Given the description of an element on the screen output the (x, y) to click on. 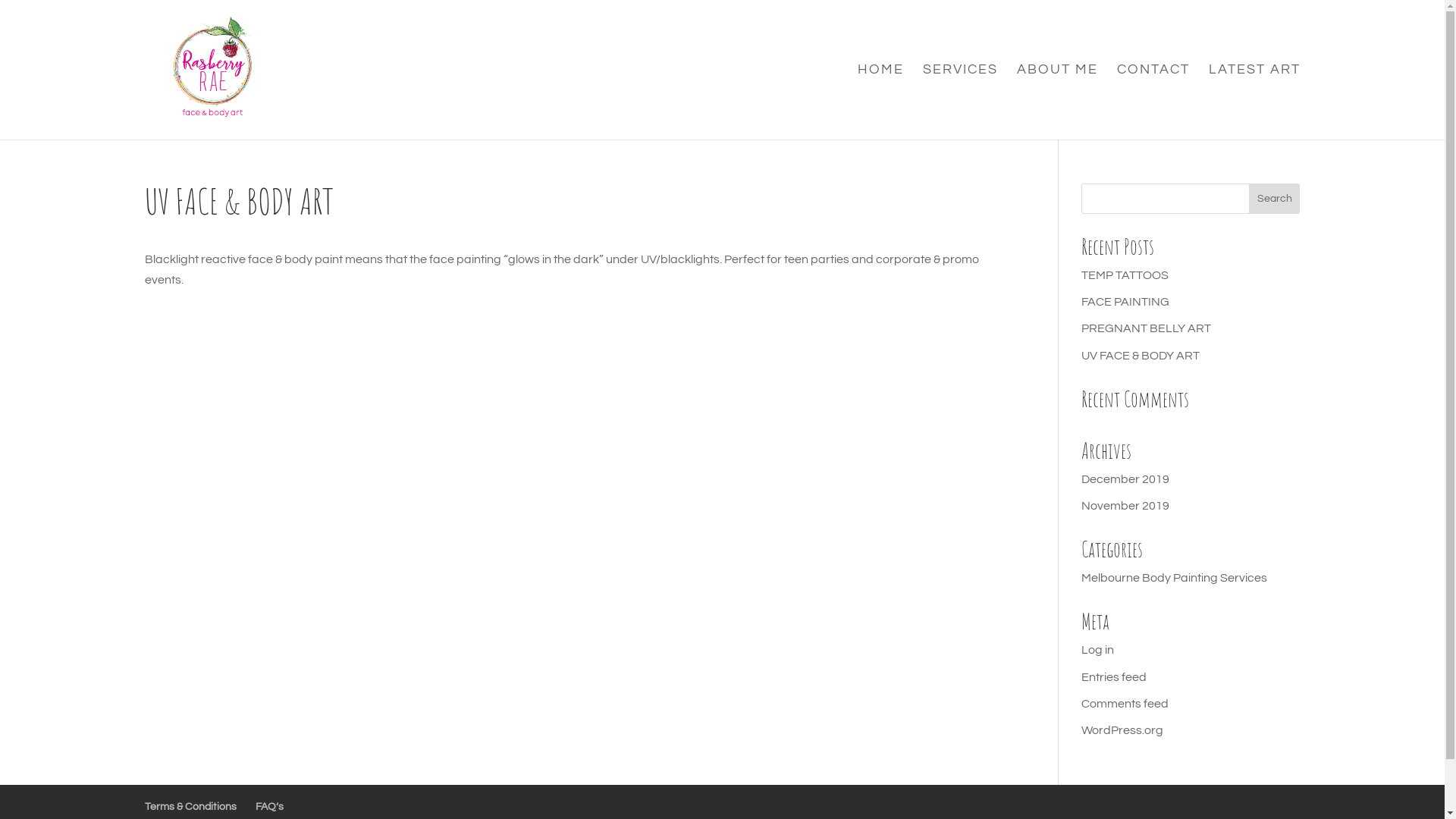
CONTACT Element type: text (1152, 101)
WordPress.org Element type: text (1122, 730)
FACE PAINTING Element type: text (1125, 301)
SERVICES Element type: text (959, 101)
LATEST ART Element type: text (1254, 101)
Comments feed Element type: text (1124, 703)
UV FACE & BODY ART Element type: text (1140, 355)
Melbourne Body Painting Services Element type: text (1174, 577)
HOME Element type: text (879, 101)
Terms & Conditions Element type: text (189, 806)
PREGNANT BELLY ART Element type: text (1146, 328)
November 2019 Element type: text (1125, 505)
TEMP TATTOOS Element type: text (1124, 275)
December 2019 Element type: text (1125, 479)
Log in Element type: text (1097, 649)
ABOUT ME Element type: text (1056, 101)
Search Element type: text (1274, 198)
Entries feed Element type: text (1113, 676)
